Given the description of an element on the screen output the (x, y) to click on. 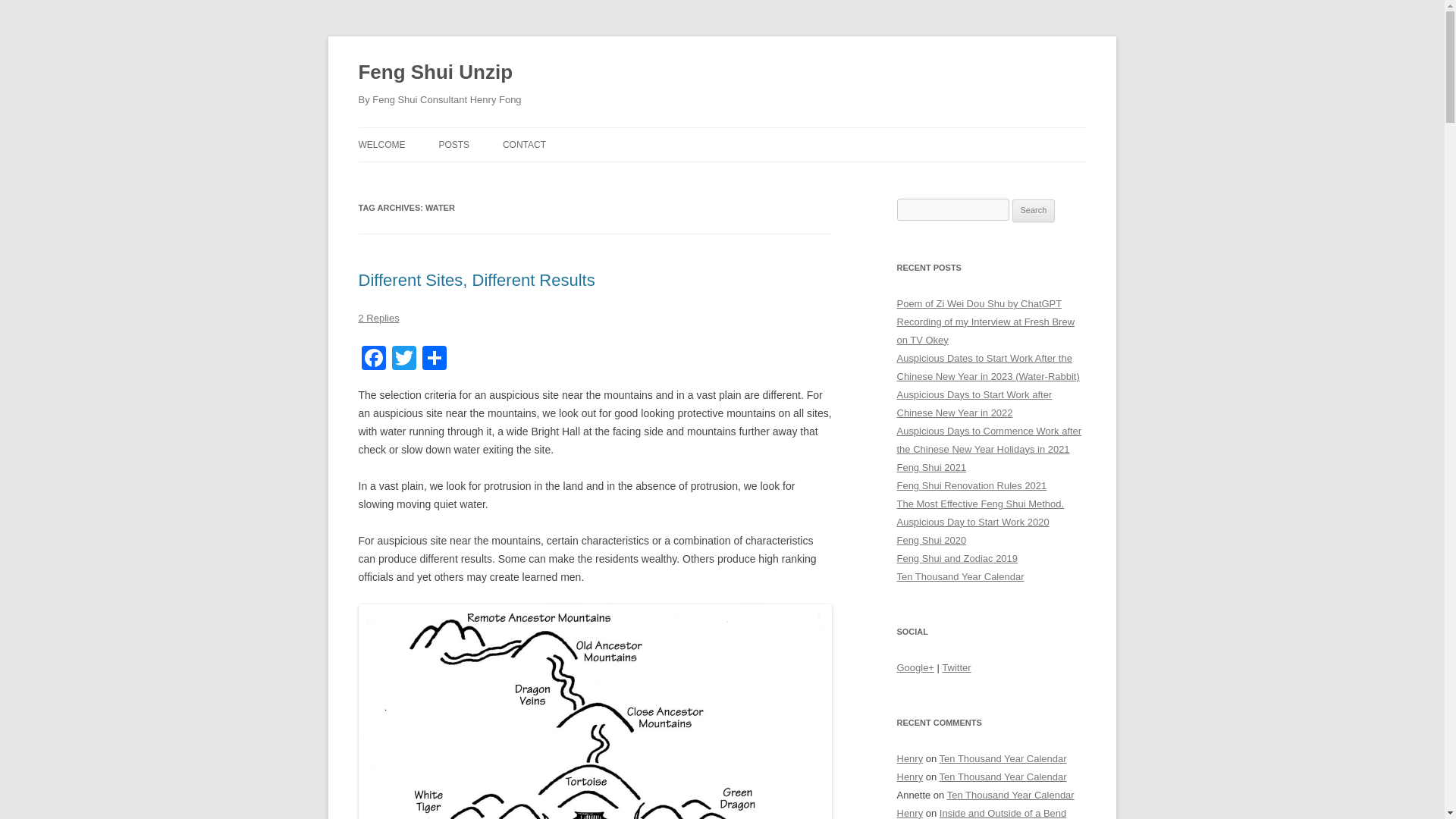
Facebook (373, 359)
Twitter (403, 359)
Different Sites, Different Results (476, 280)
POSTS (453, 144)
2 Replies (378, 317)
Share (433, 359)
Facebook (373, 359)
CONTACT (524, 144)
Twitter (403, 359)
Feng Shui Unzip (435, 72)
WELCOME (381, 144)
Search (1033, 210)
